Given the description of an element on the screen output the (x, y) to click on. 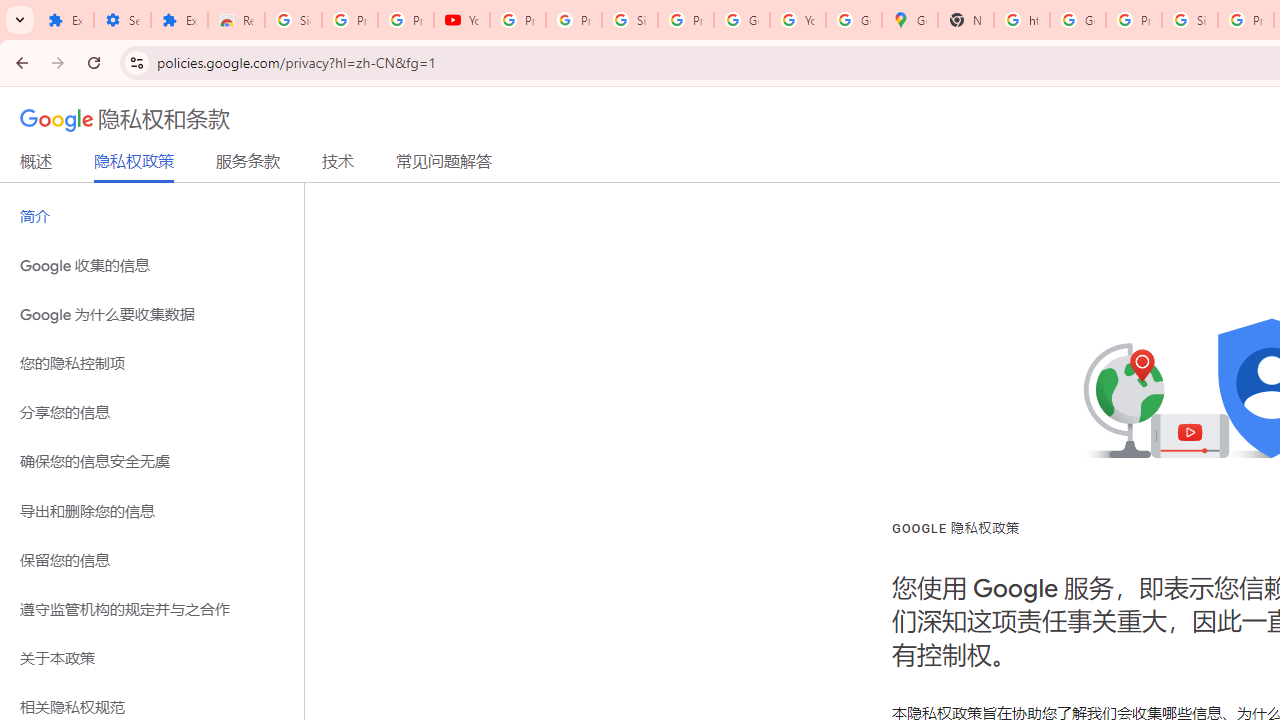
Reviews: Helix Fruit Jump Arcade Game (235, 20)
Extensions (179, 20)
New Tab (966, 20)
